Given the description of an element on the screen output the (x, y) to click on. 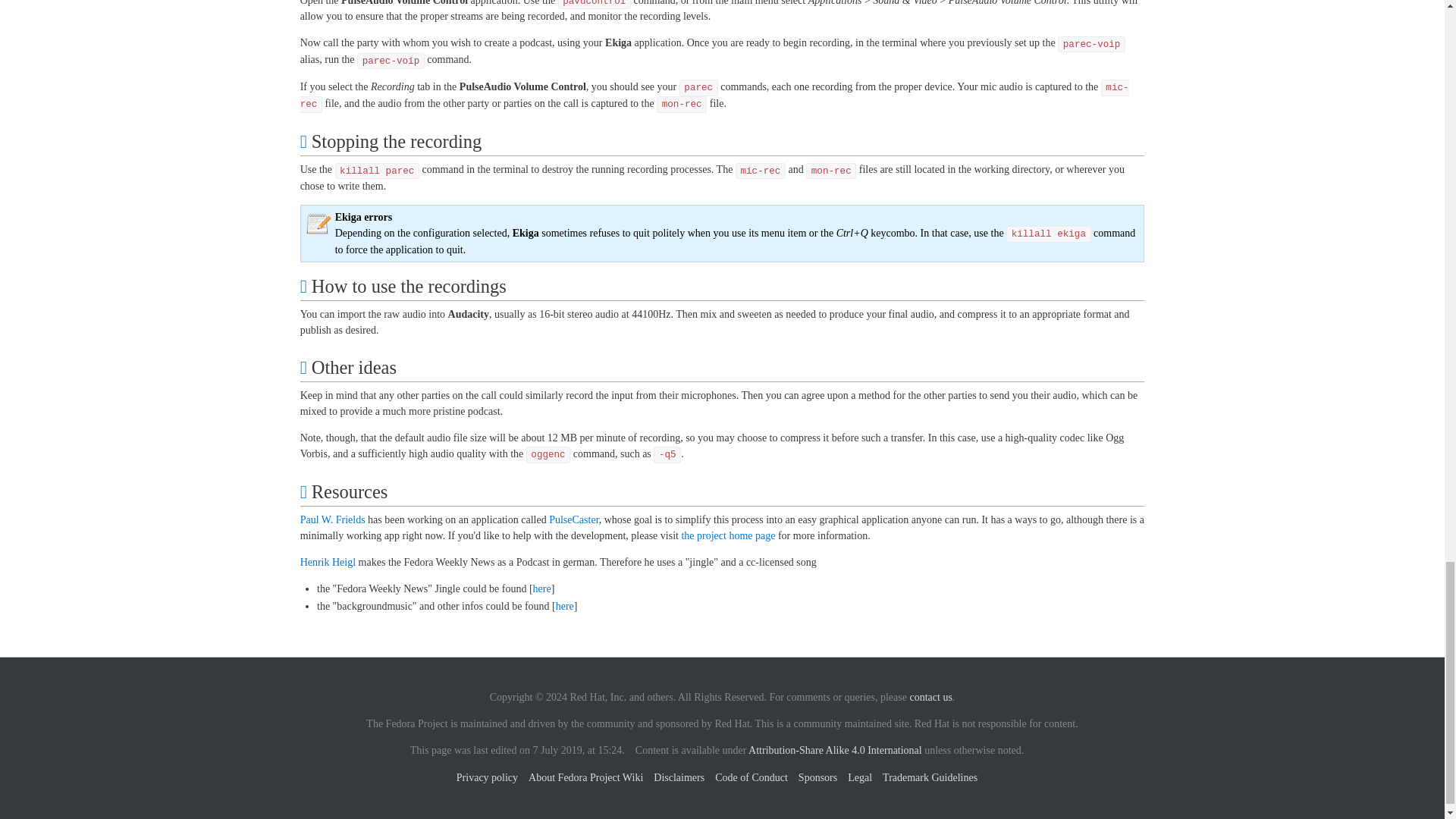
User:Pfrields (332, 519)
Legal:Main (834, 749)
User:Wonderer (327, 562)
